Given the description of an element on the screen output the (x, y) to click on. 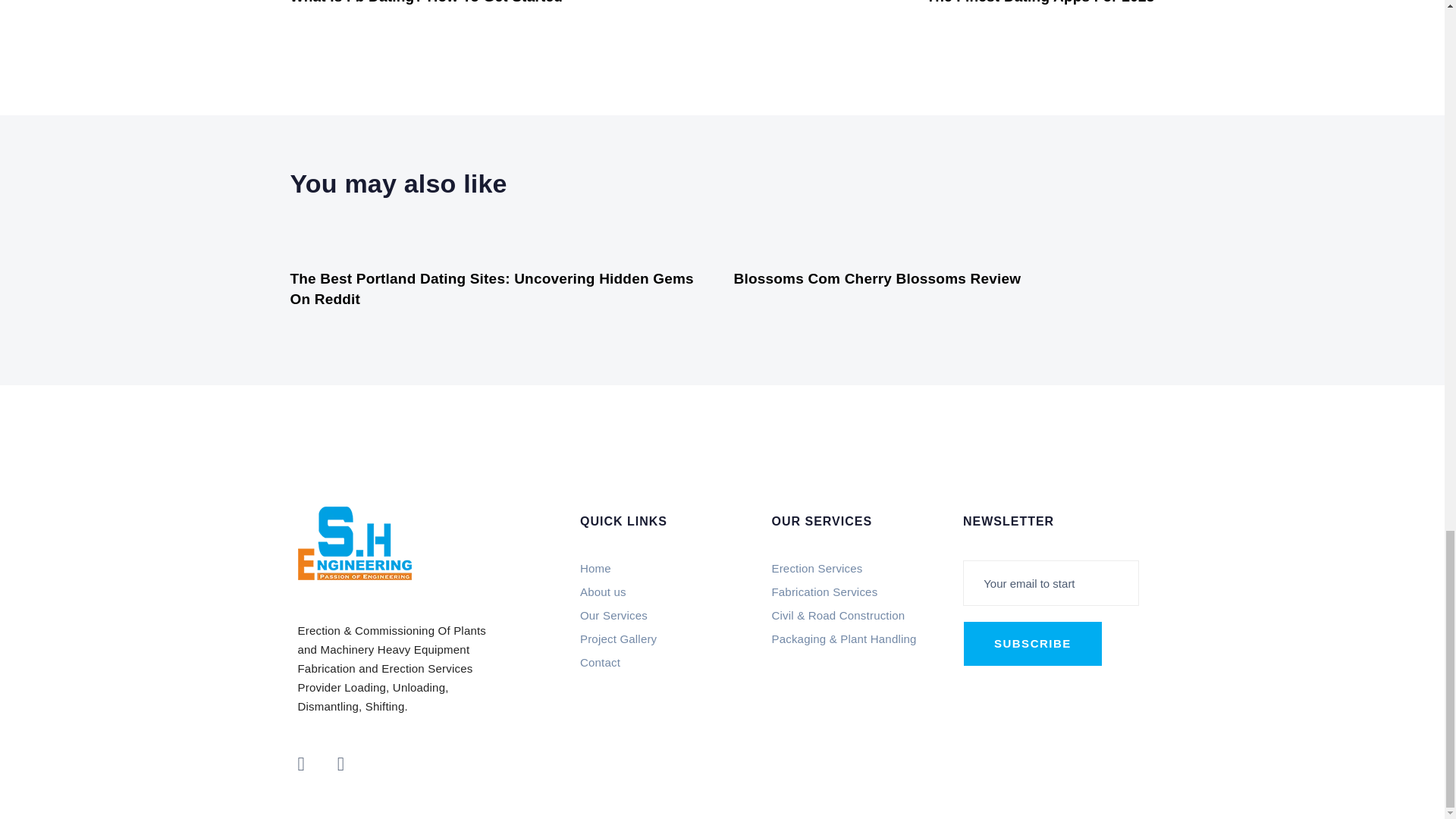
Blossoms Com Cherry Blossoms Review (1040, 3)
